Given the description of an element on the screen output the (x, y) to click on. 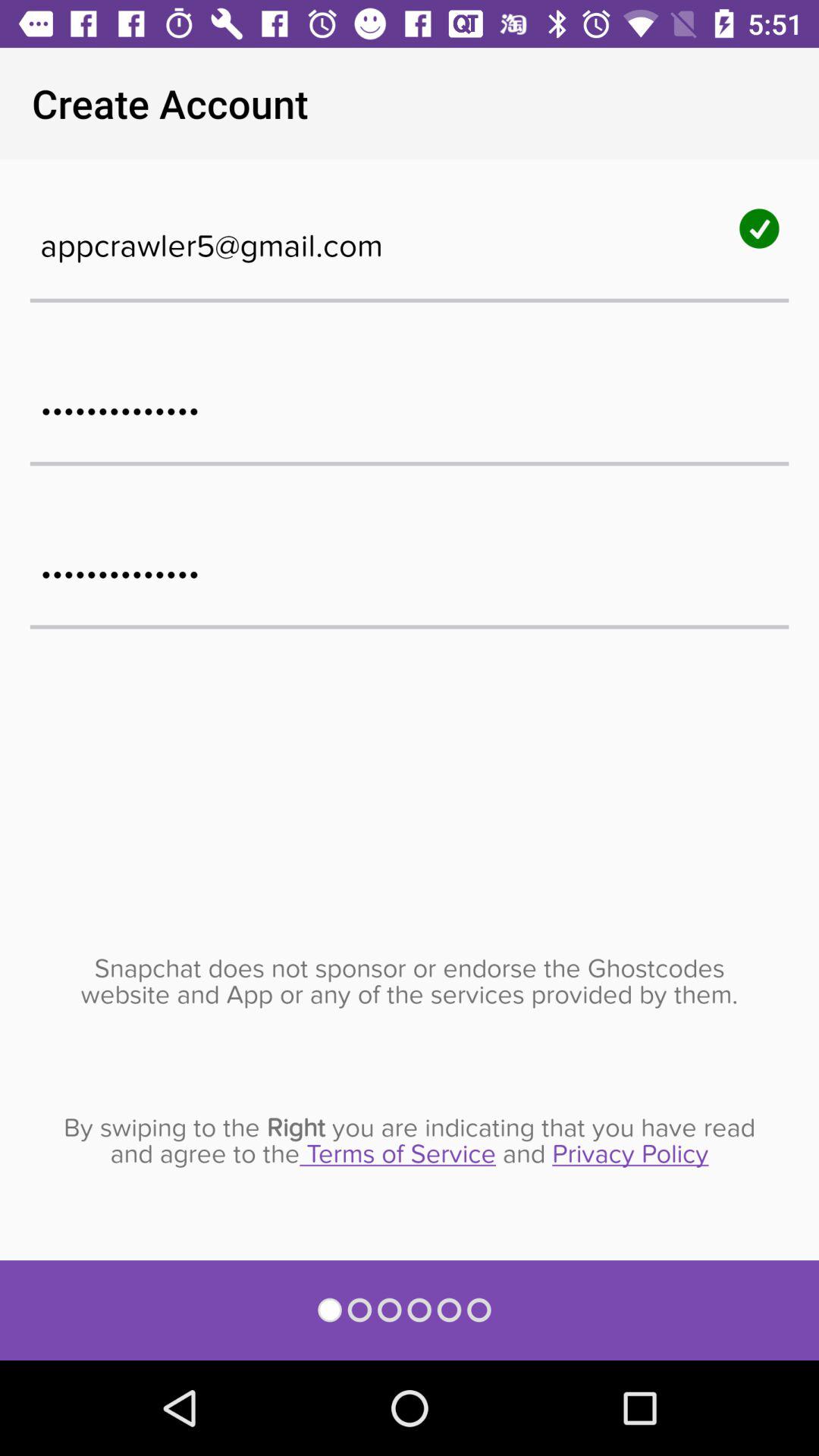
scroll until the appcrawler5@gmail.com (409, 237)
